Given the description of an element on the screen output the (x, y) to click on. 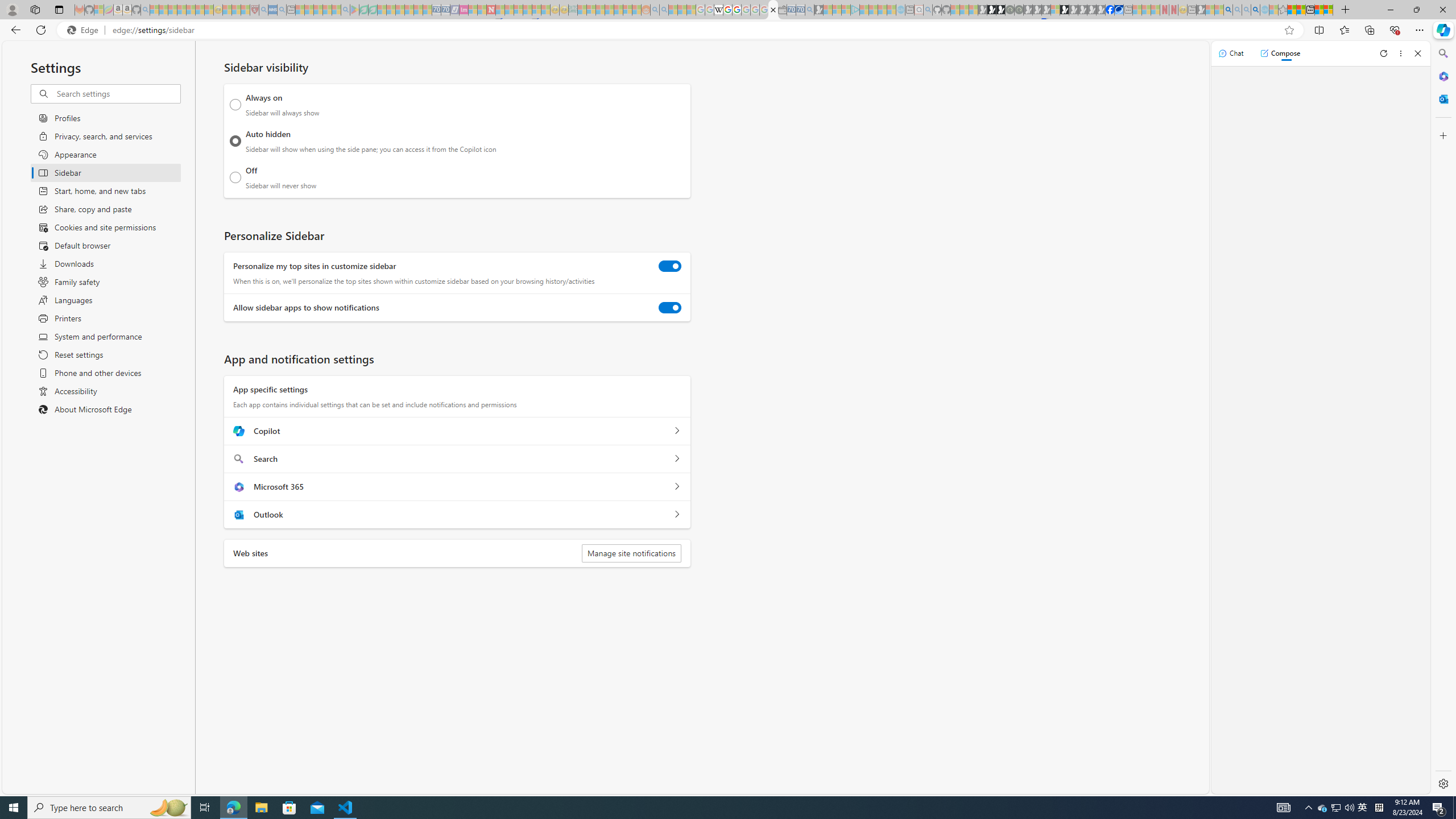
google - Search - Sleeping (345, 9)
Manage site notifications (630, 553)
